Given the description of an element on the screen output the (x, y) to click on. 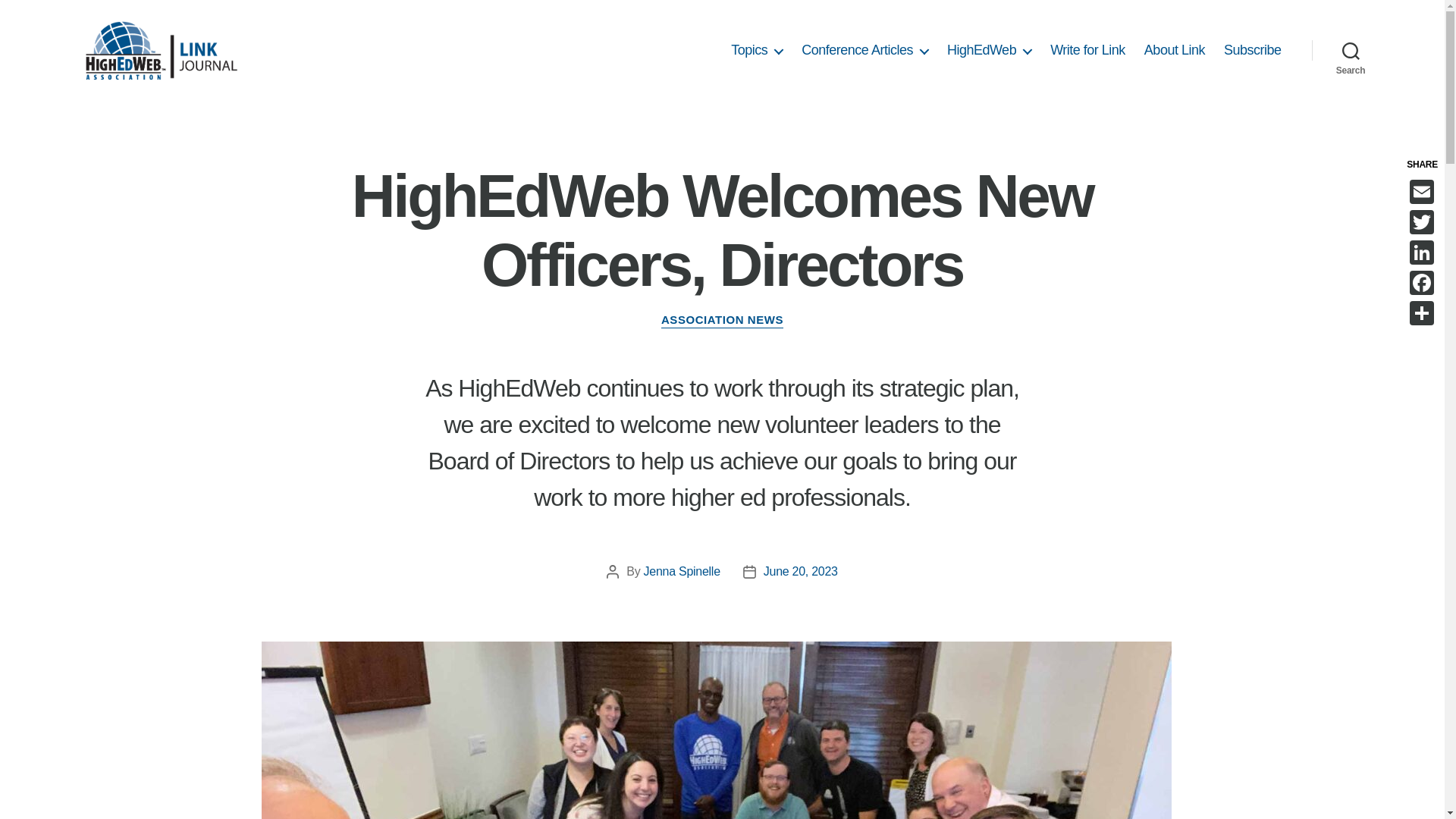
Facebook (1423, 282)
Twitter (1423, 222)
Posts by Jenna Spinelle (681, 571)
Subscribe (1252, 50)
About Link (1174, 50)
Conference Articles (865, 50)
Write for Link (1087, 50)
Search (1350, 50)
Topics (756, 50)
Email (1423, 191)
HighEdWeb (988, 50)
LinkedIn (1423, 252)
